Given the description of an element on the screen output the (x, y) to click on. 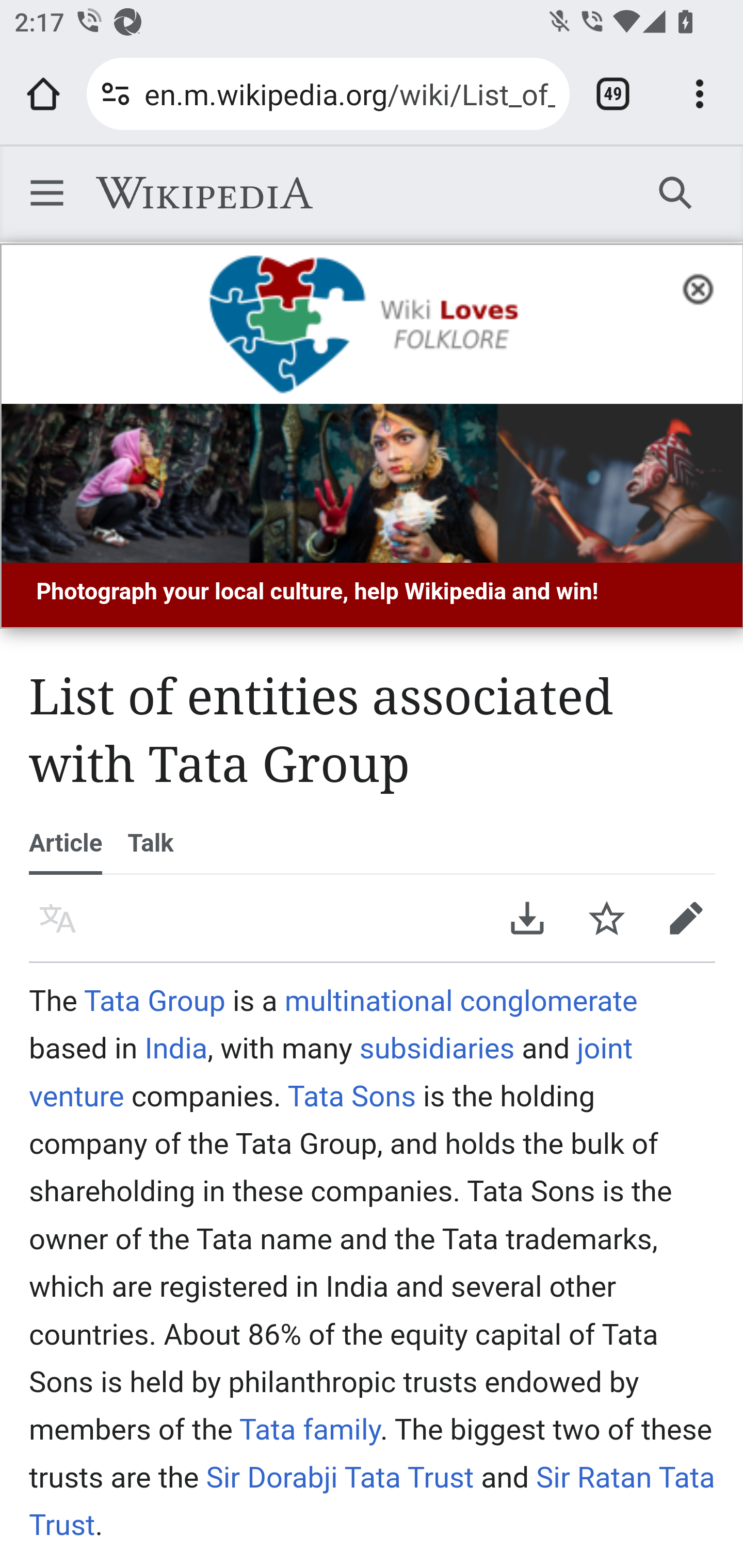
Open the home page (43, 93)
Connection is secure (115, 93)
Switch or close tabs (612, 93)
Customize and control Google Chrome (699, 93)
Search (676, 192)
Wikipedia (203, 192)
Hide (703, 286)
Article (65, 842)
Talk (150, 842)
Language (57, 918)
Download PDF (526, 918)
Watch (606, 918)
Edit (686, 918)
Tata Group (155, 1000)
multinational (368, 1000)
conglomerate (548, 1000)
joint venture (330, 1071)
India (176, 1048)
subsidiaries (436, 1048)
Tata Sons (351, 1095)
Tata family (309, 1429)
Sir Ratan Tata Trust (372, 1500)
Sir Dorabji Tata Trust (339, 1476)
